Given the description of an element on the screen output the (x, y) to click on. 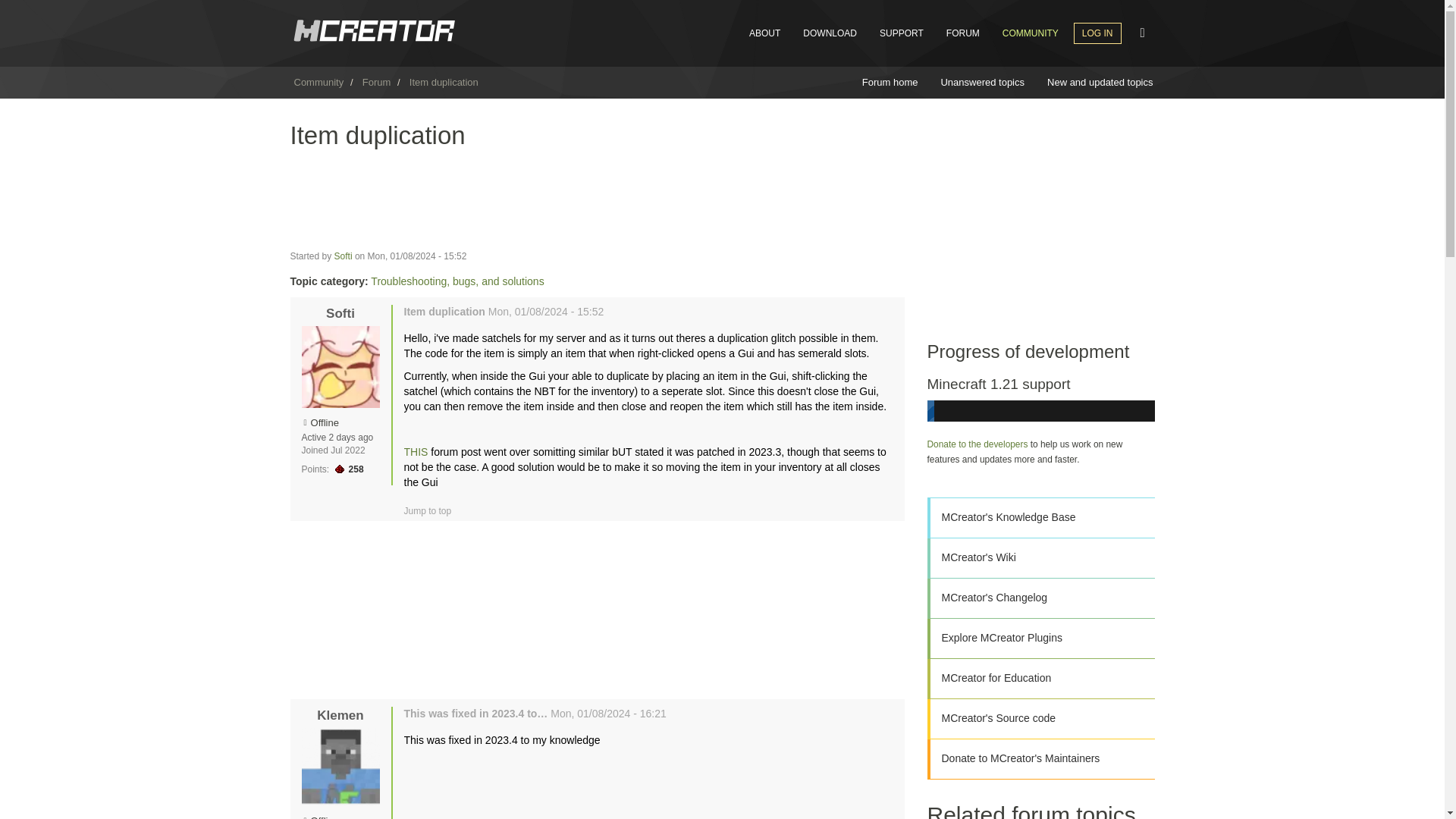
About (765, 32)
Home (373, 31)
Monday, January 8, 2024 - 15:52 (417, 255)
Advertisement (596, 198)
Klemen (339, 715)
Jump to top (427, 511)
Softi (343, 255)
ABOUT (765, 32)
Forum home (890, 82)
Softi (340, 313)
FORUM (962, 32)
Forum (376, 81)
Advertisement (596, 607)
Monday, January 8, 2024 - 15:52 (545, 311)
LOG IN (1097, 33)
